Given the description of an element on the screen output the (x, y) to click on. 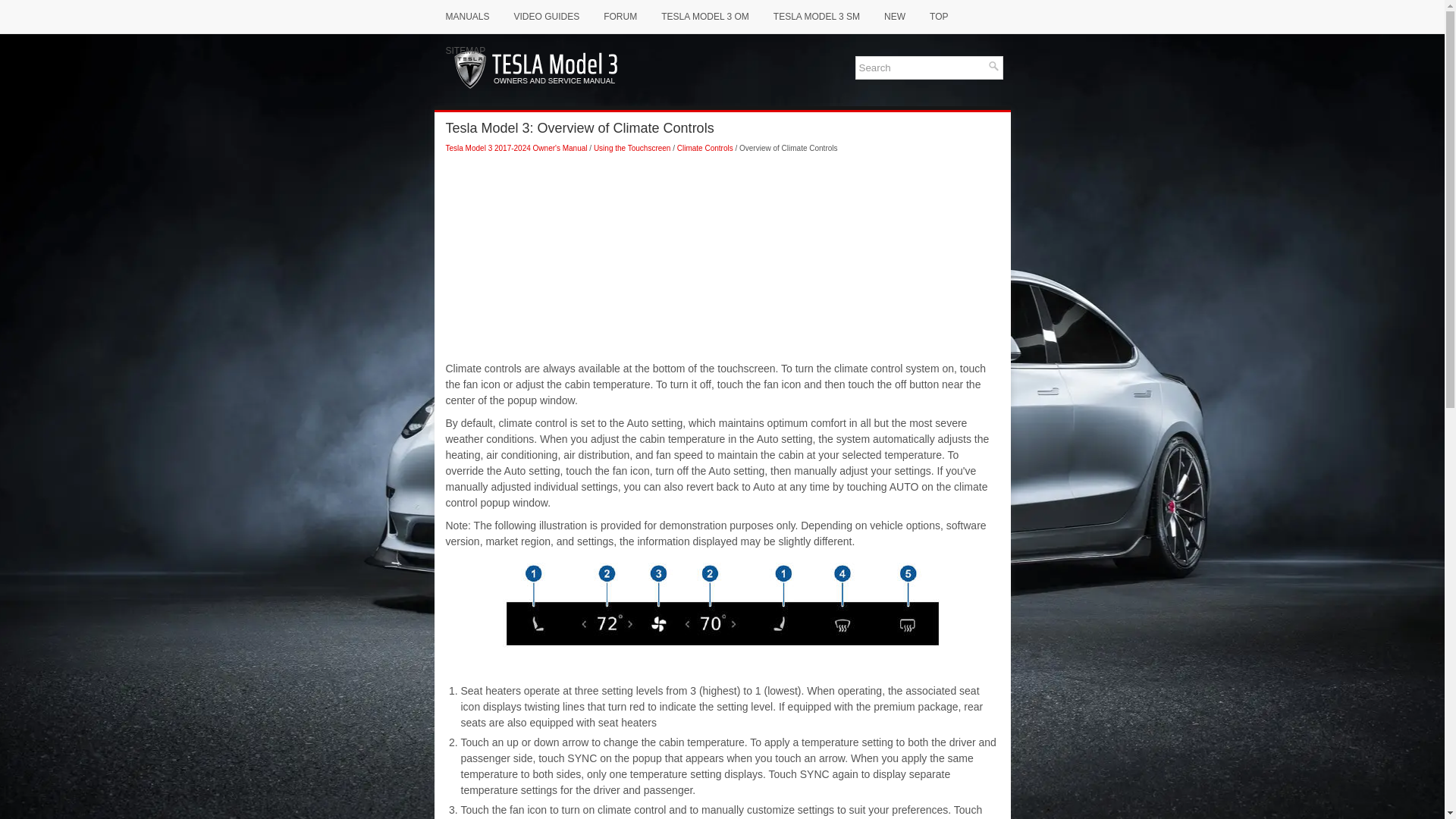
TESLA MODEL 3 SM (815, 16)
Tesla Model 3 Owners Manual (704, 16)
Tesla Model 3 2017-2024 Owner's Manual (516, 148)
Search (923, 67)
FORUM (619, 16)
Tesla Model 3 Service Manual (815, 16)
Search (992, 65)
TOP (938, 16)
SITEMAP (464, 50)
Type and hit enter (929, 67)
TESLA MODEL 3 OM (704, 16)
Climate Controls (705, 148)
VIDEO GUIDES (546, 16)
MANUALS (466, 16)
Advertisement (721, 303)
